Given the description of an element on the screen output the (x, y) to click on. 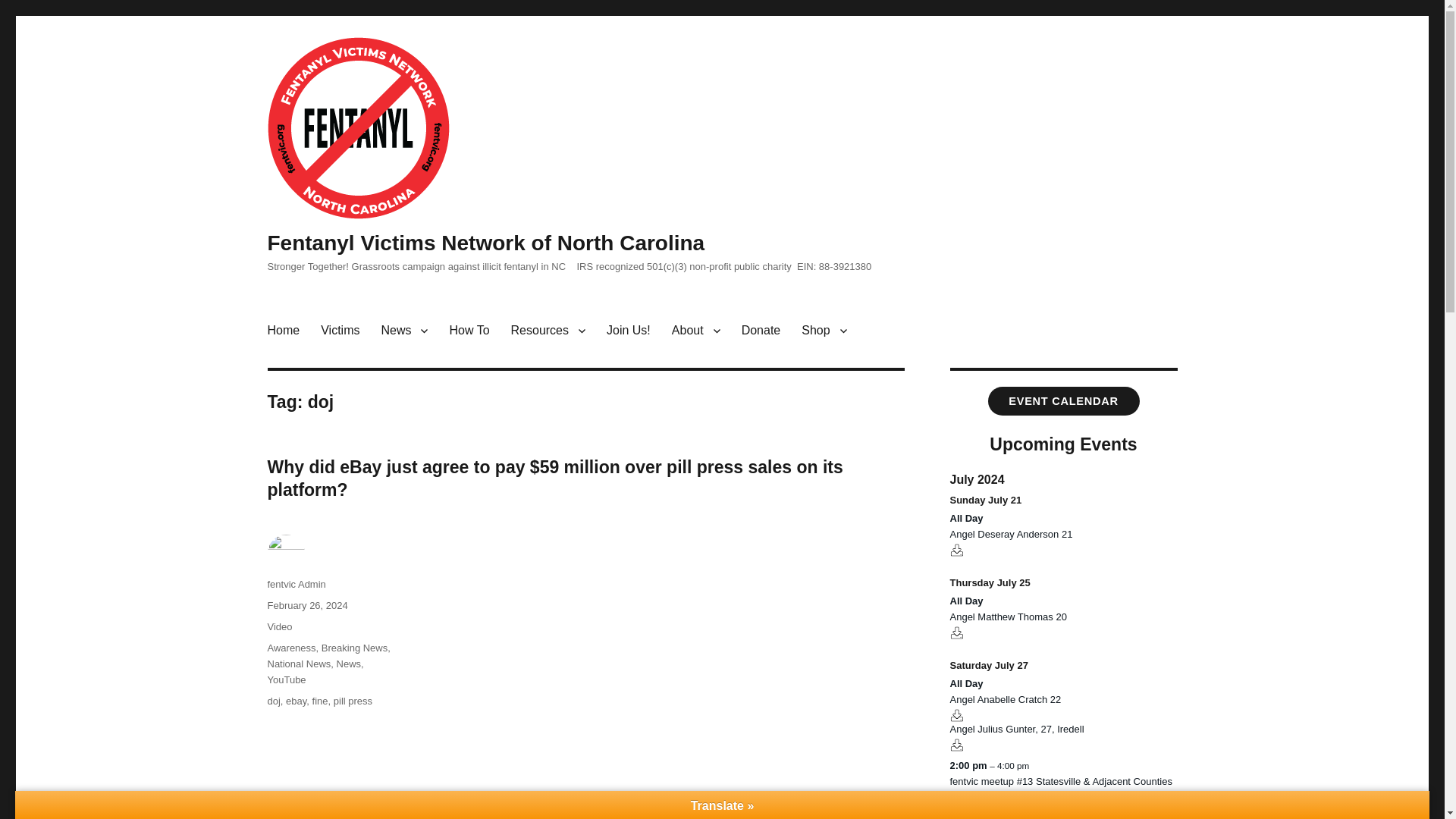
Fentanyl Victims Network of North Carolina (485, 242)
Resources (547, 330)
Save to your calendar (956, 744)
Save to your calendar (956, 549)
Victims (339, 330)
Home (283, 330)
News (403, 330)
Save to your calendar (956, 632)
How To (468, 330)
Save to your calendar (956, 715)
